Given the description of an element on the screen output the (x, y) to click on. 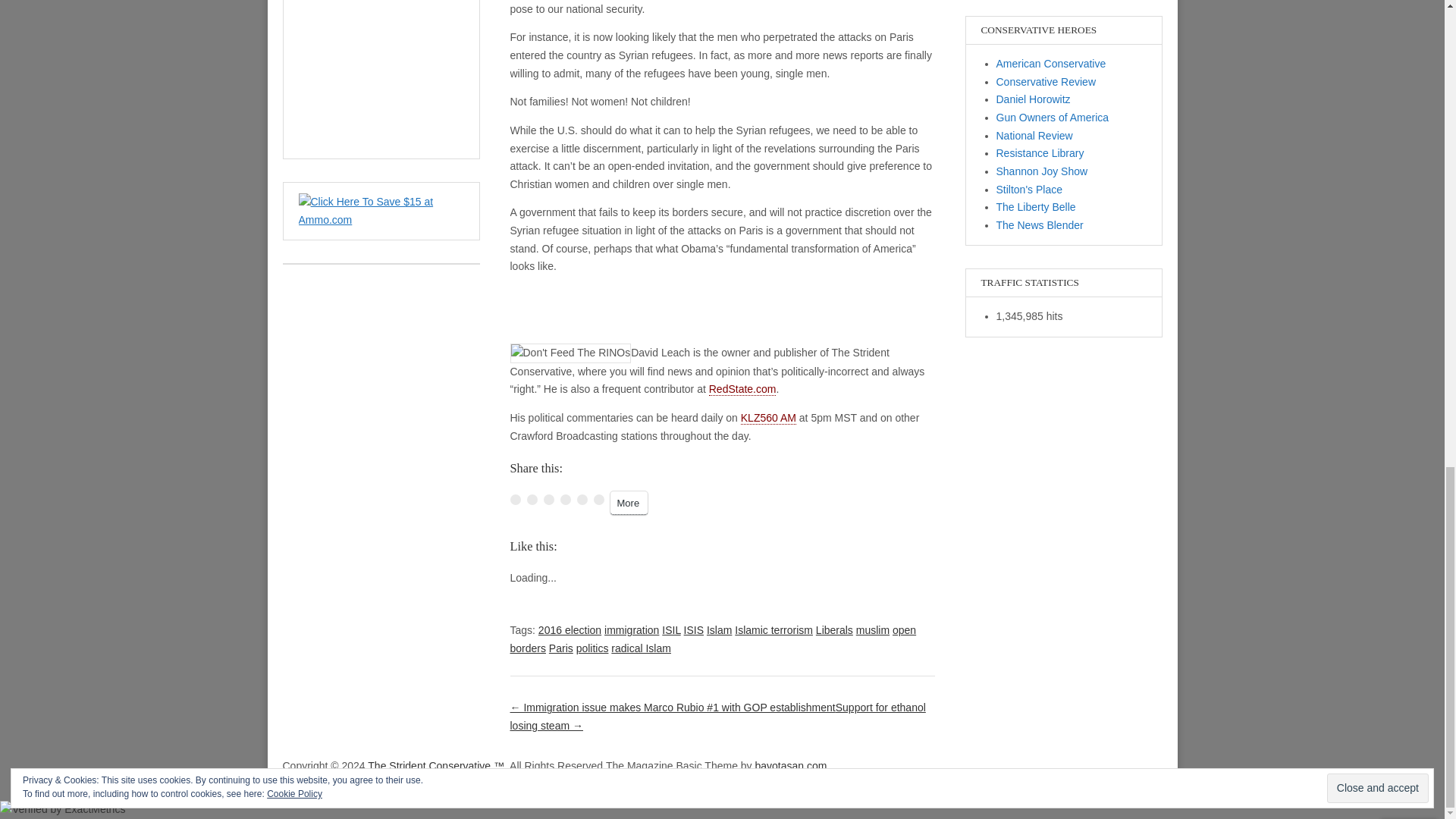
Click to share on LinkedIn (548, 499)
Click to share on Twitter (531, 499)
Click to share on Tumblr (598, 499)
Click to share on Facebook (514, 499)
Click to share on Reddit (581, 499)
Click to share on Pinterest (564, 499)
